Given the description of an element on the screen output the (x, y) to click on. 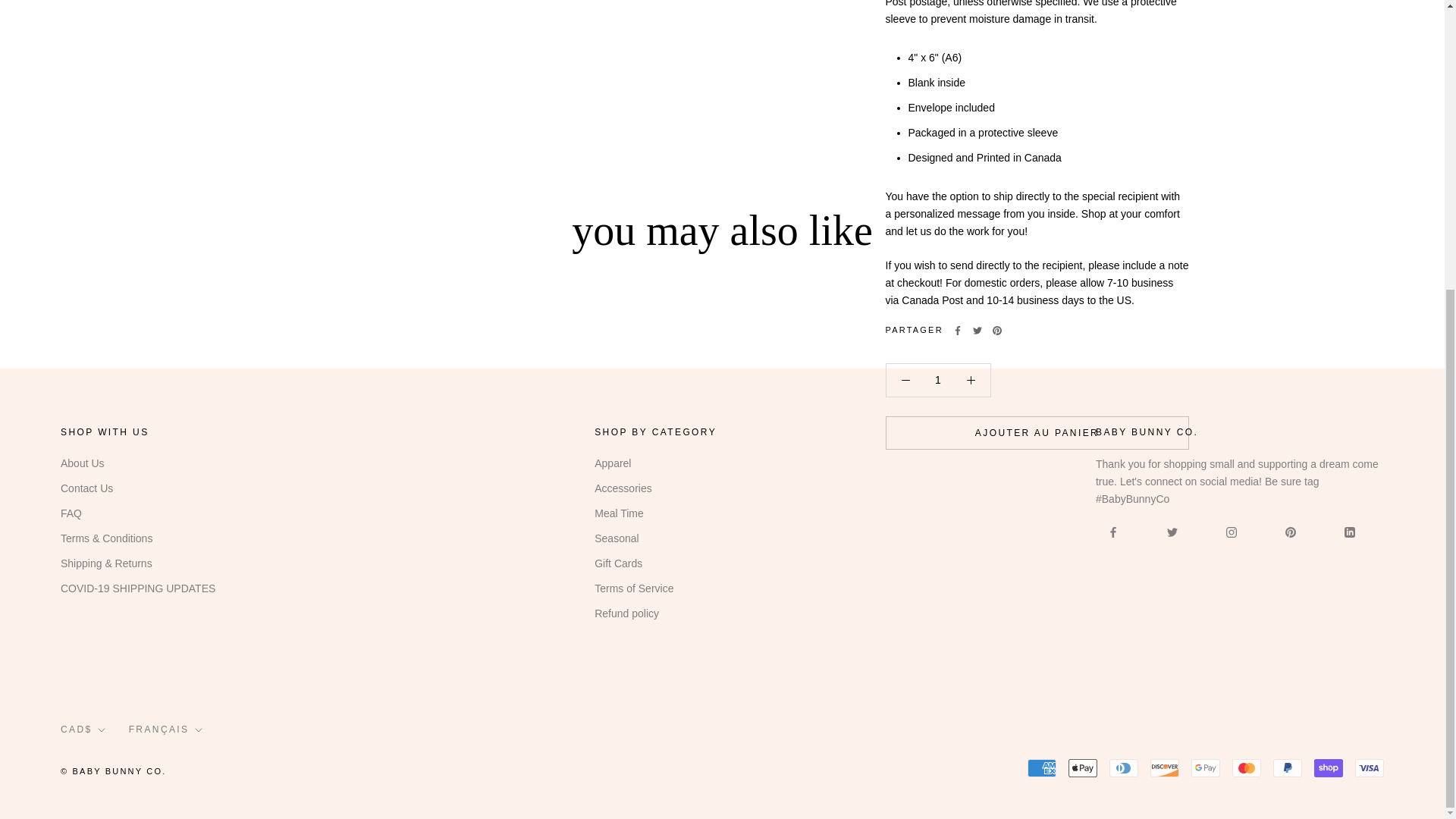
Discover (1164, 768)
1 (938, 379)
Shop Pay (1328, 768)
Apple Pay (1082, 768)
Google Pay (1205, 768)
American Express (1042, 768)
PayPal (1286, 768)
Mastercard (1245, 768)
Diners Club (1123, 768)
